Given the description of an element on the screen output the (x, y) to click on. 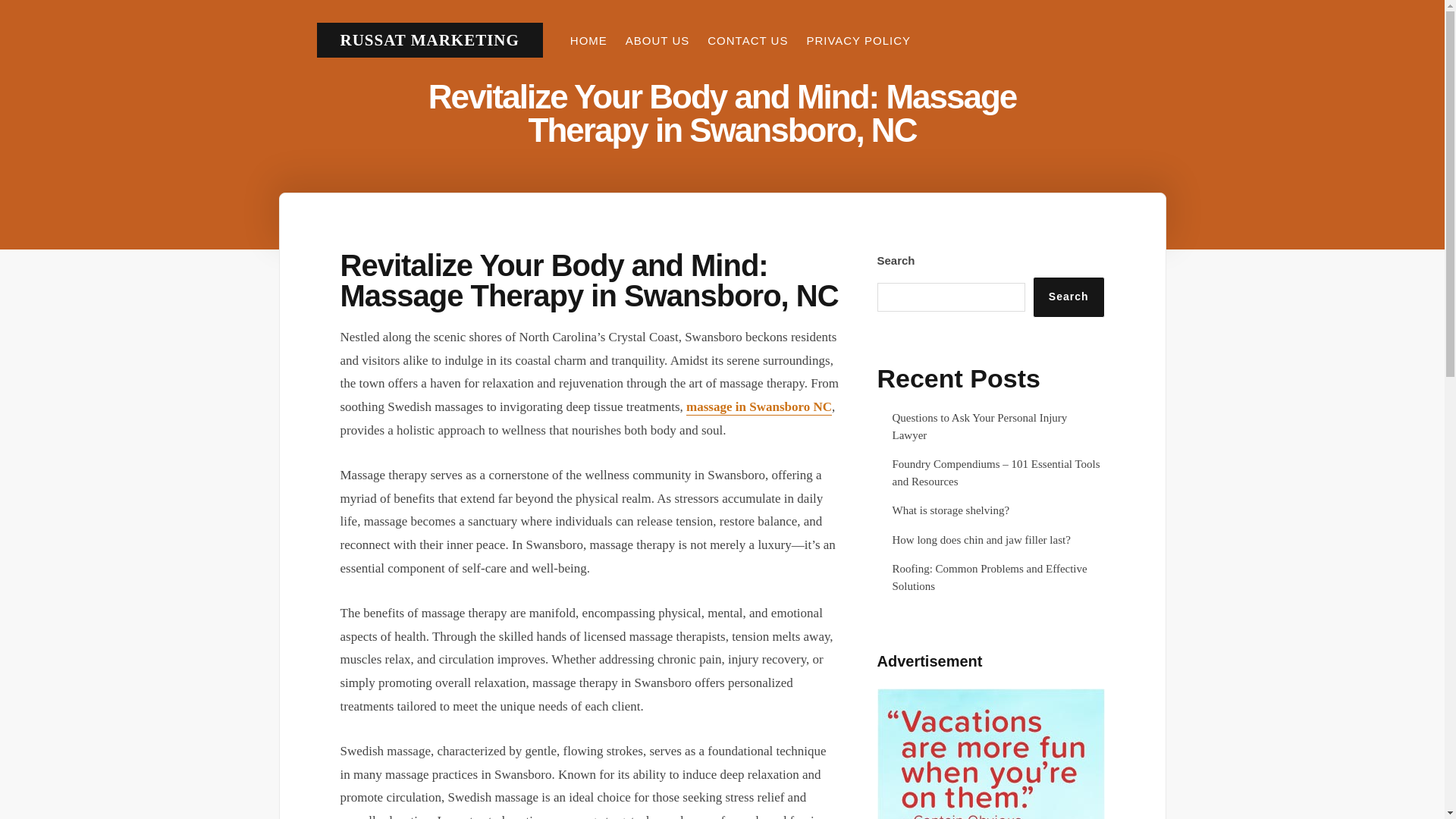
PRIVACY POLICY (857, 40)
massage in Swansboro NC (758, 407)
CONTACT US (747, 40)
ABOUT US (657, 40)
What is storage shelving? (950, 510)
Search (1068, 296)
HOME (588, 40)
RUSSAT MARKETING (428, 40)
Questions to Ask Your Personal Injury Lawyer (979, 426)
How long does chin and jaw filler last? (980, 539)
Roofing: Common Problems and Effective Solutions (988, 577)
